Given the description of an element on the screen output the (x, y) to click on. 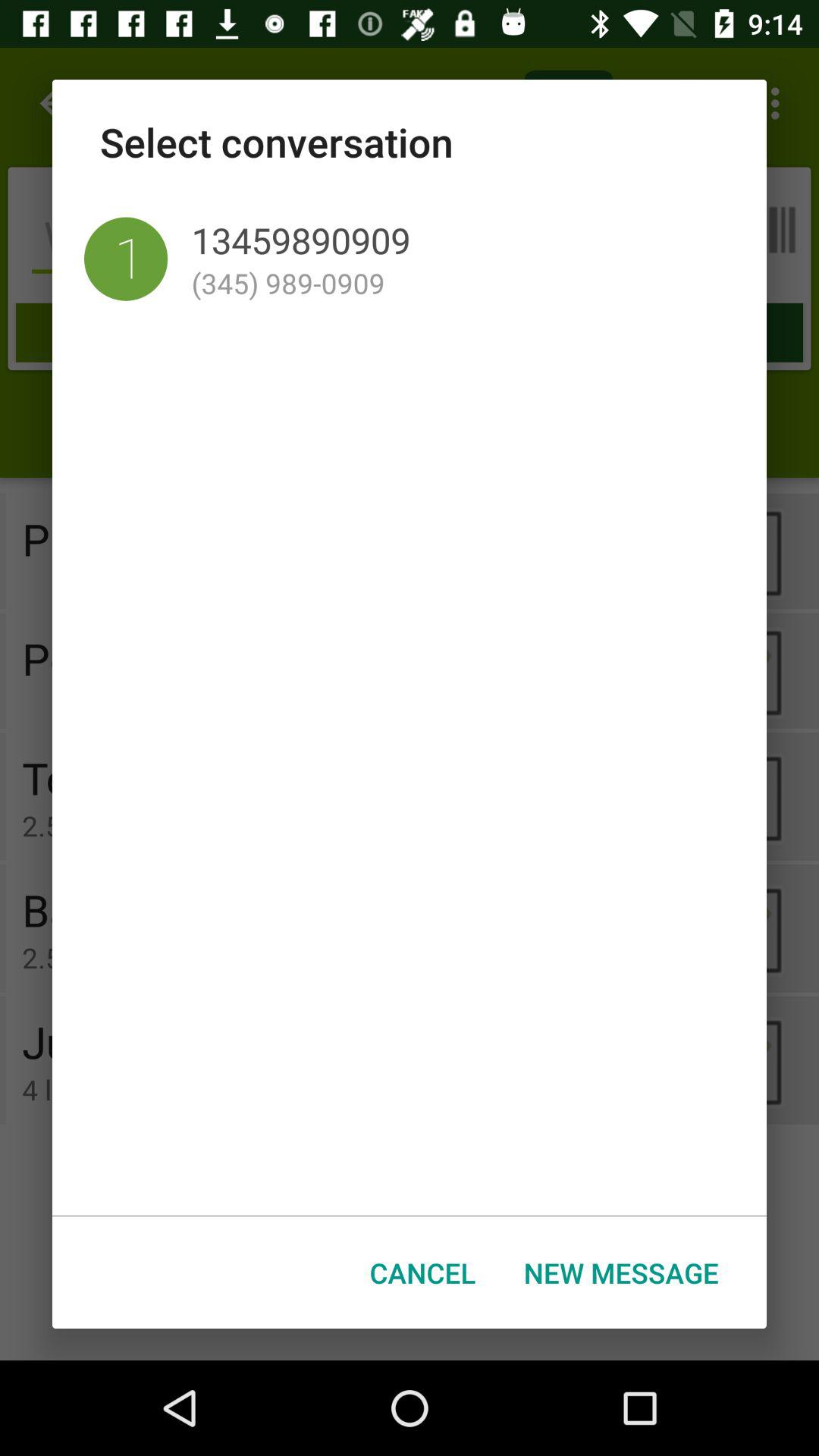
swipe to cancel button (422, 1272)
